Given the description of an element on the screen output the (x, y) to click on. 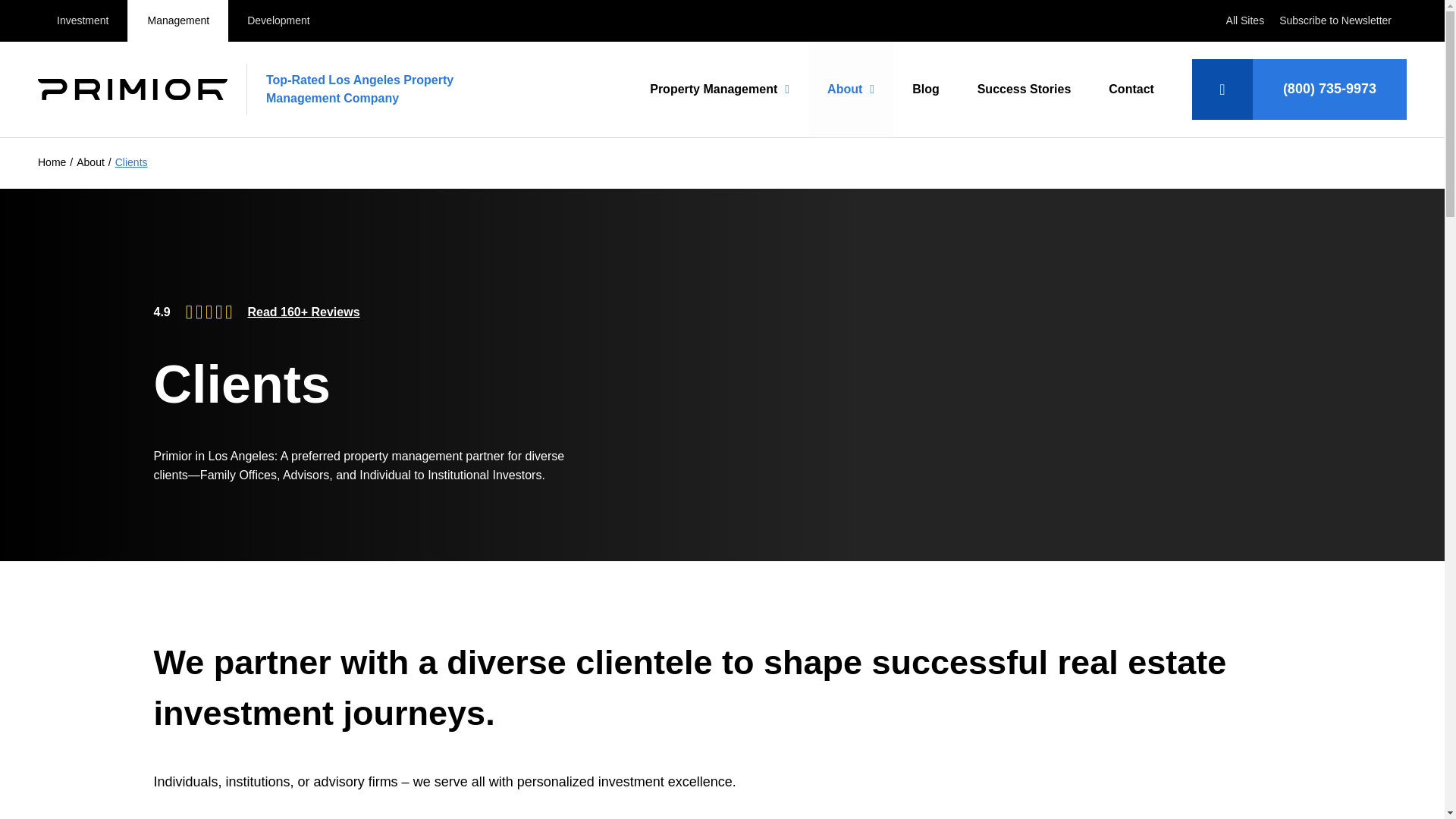
Success Stories (1024, 89)
About (90, 162)
Management (178, 20)
Subscribe to Newsletter (1335, 20)
All Sites (1245, 20)
Development (278, 20)
Home (51, 162)
About (850, 89)
Property Management (719, 89)
Investment (82, 20)
